Given the description of an element on the screen output the (x, y) to click on. 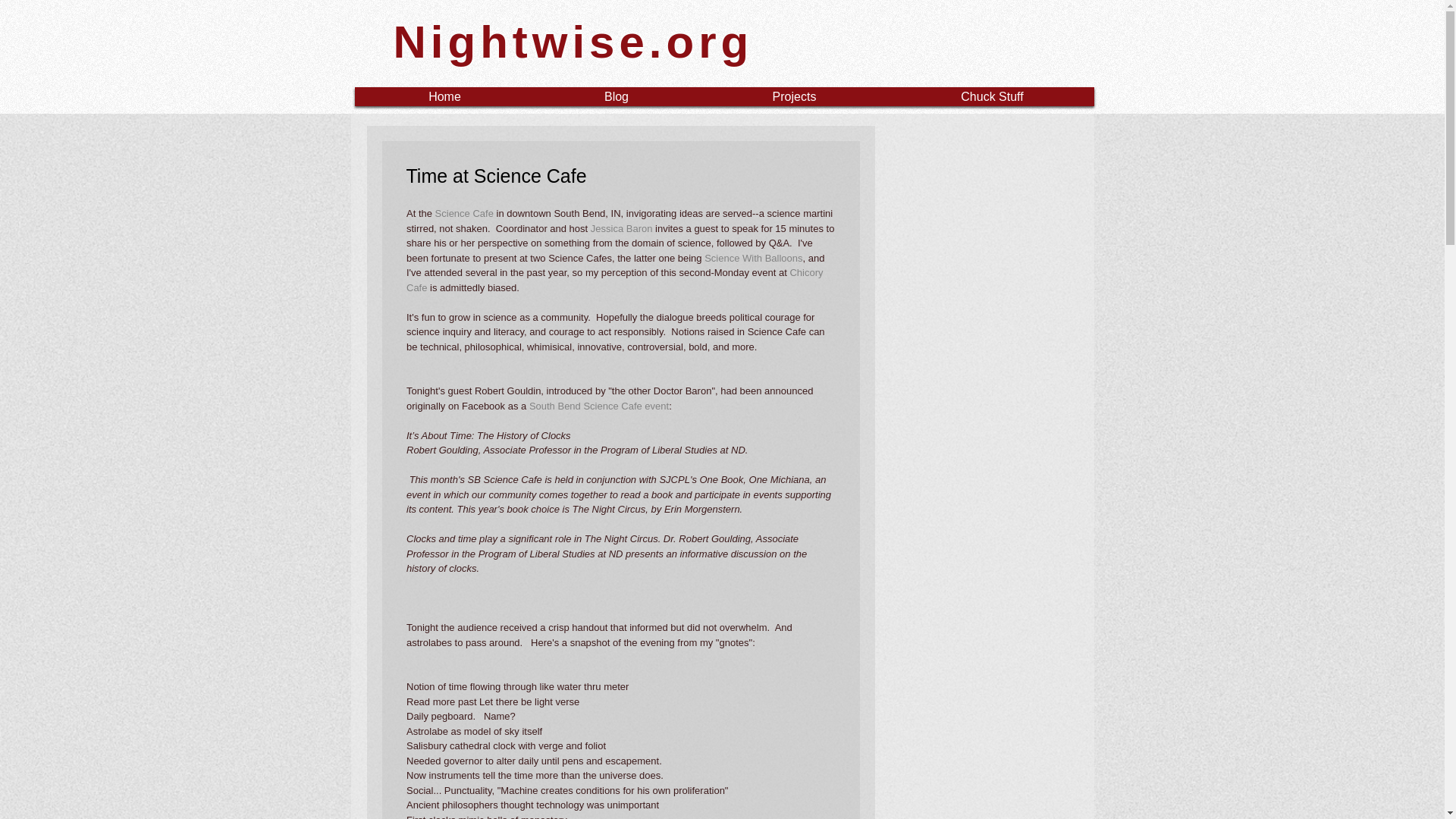
Blog (616, 96)
Chuck Stuff (991, 96)
Projects (793, 96)
Science Cafe (463, 213)
Home (444, 96)
